Given the description of an element on the screen output the (x, y) to click on. 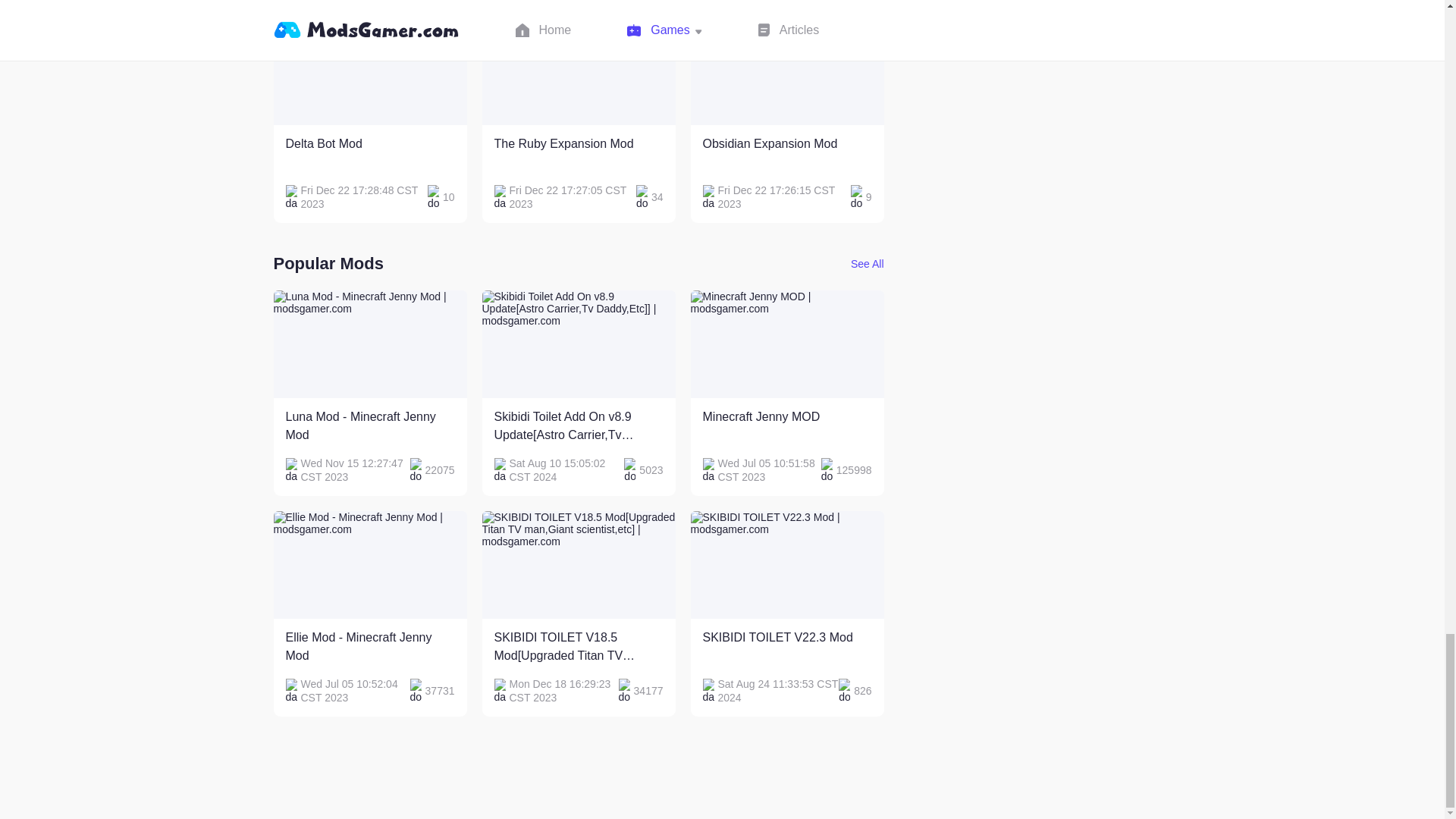
See All (786, 119)
